Given the description of an element on the screen output the (x, y) to click on. 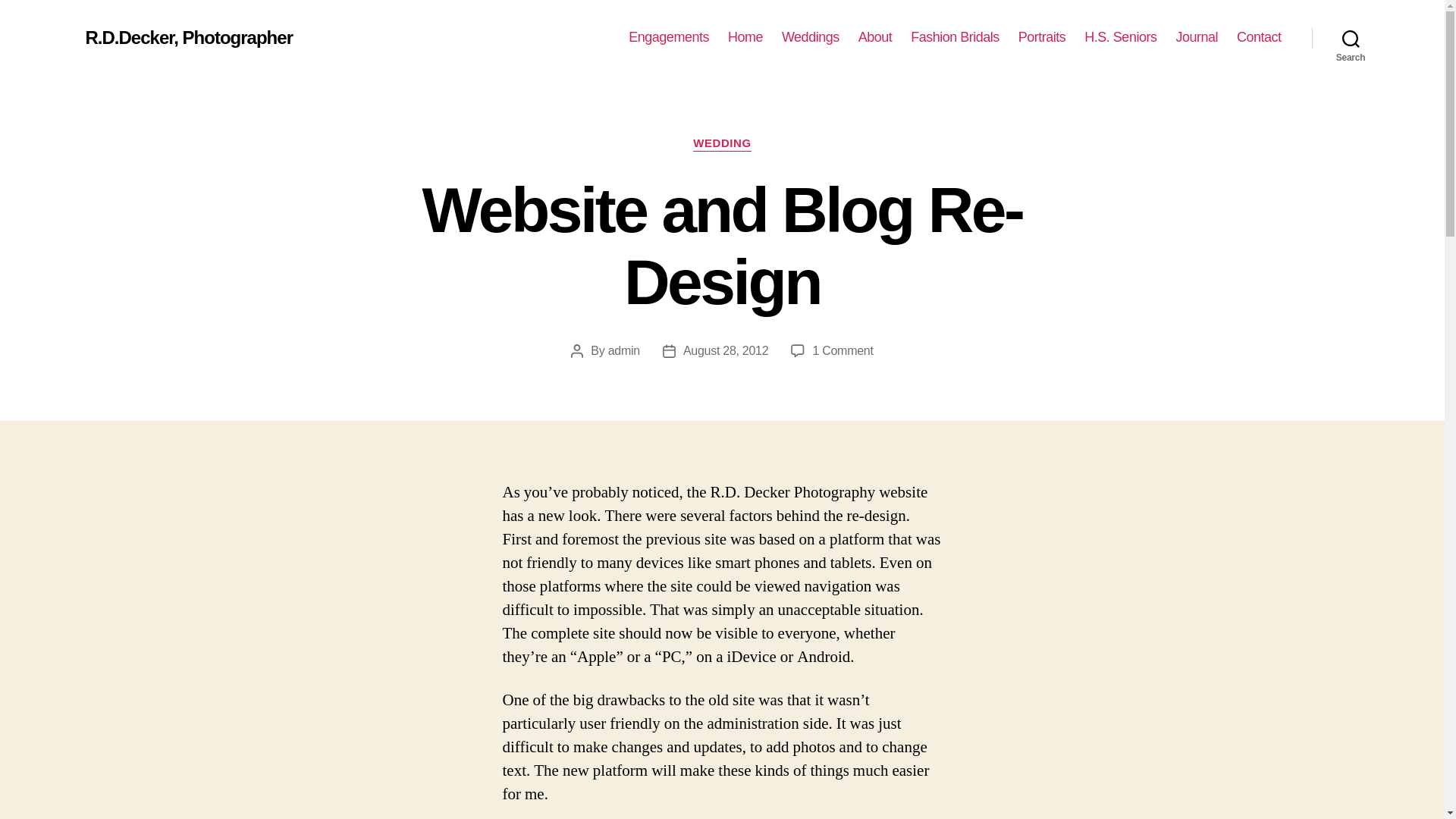
Portraits (1041, 37)
August 28, 2012 (725, 350)
Home (745, 37)
Contact (1258, 37)
H.S. Seniors (1120, 37)
Weddings (810, 37)
Journal (1195, 37)
Fashion Bridals (954, 37)
Search (1350, 37)
Engagements (842, 350)
About (668, 37)
R.D.Decker, Photographer (875, 37)
WEDDING (188, 37)
admin (722, 143)
